Given the description of an element on the screen output the (x, y) to click on. 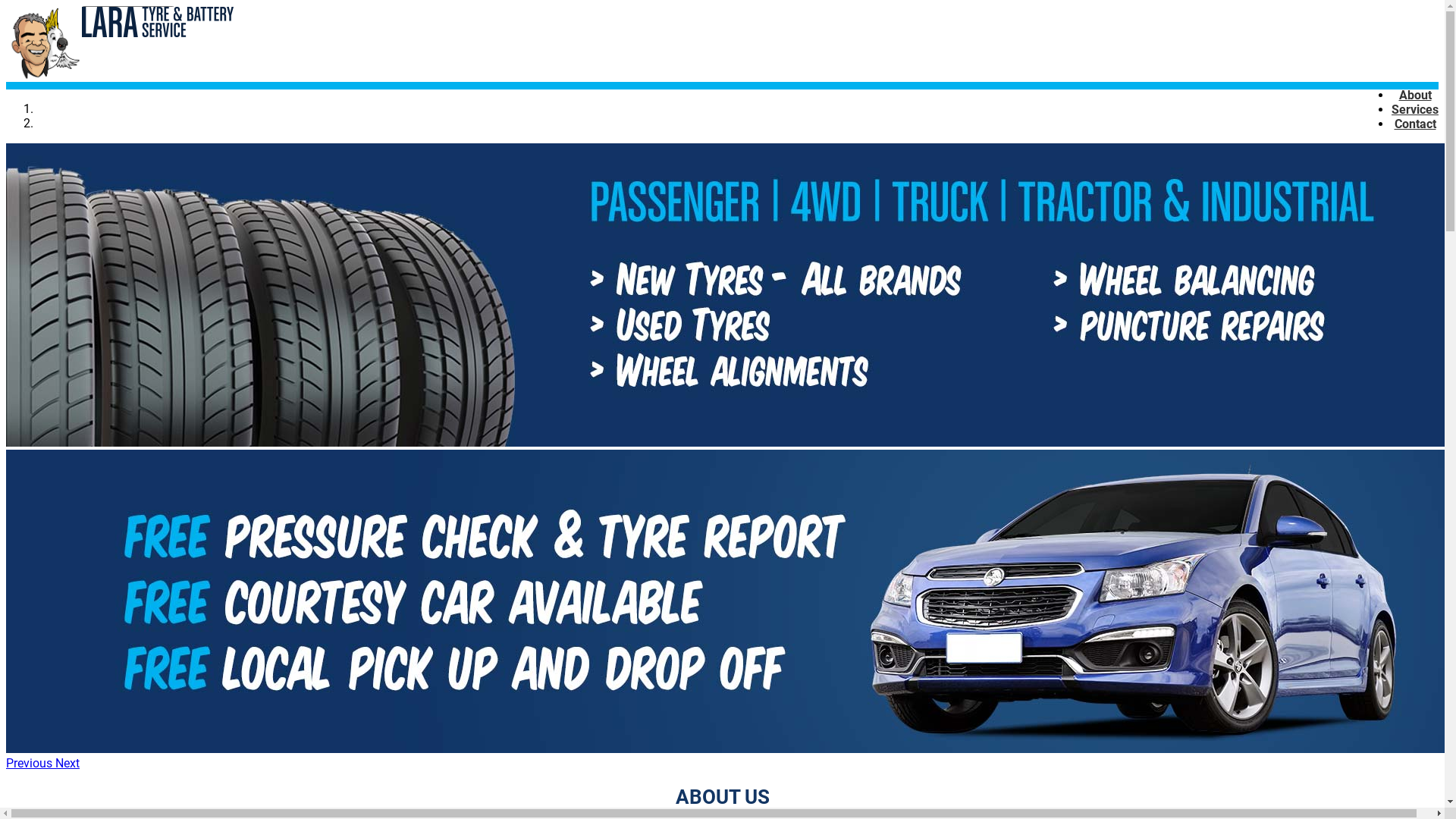
Next Element type: text (67, 763)
Previous Element type: text (30, 763)
Toggle Navigation Element type: text (127, 13)
About Element type: text (1414, 94)
Contact Element type: text (1414, 123)
Services Element type: text (1414, 109)
